Given the description of an element on the screen output the (x, y) to click on. 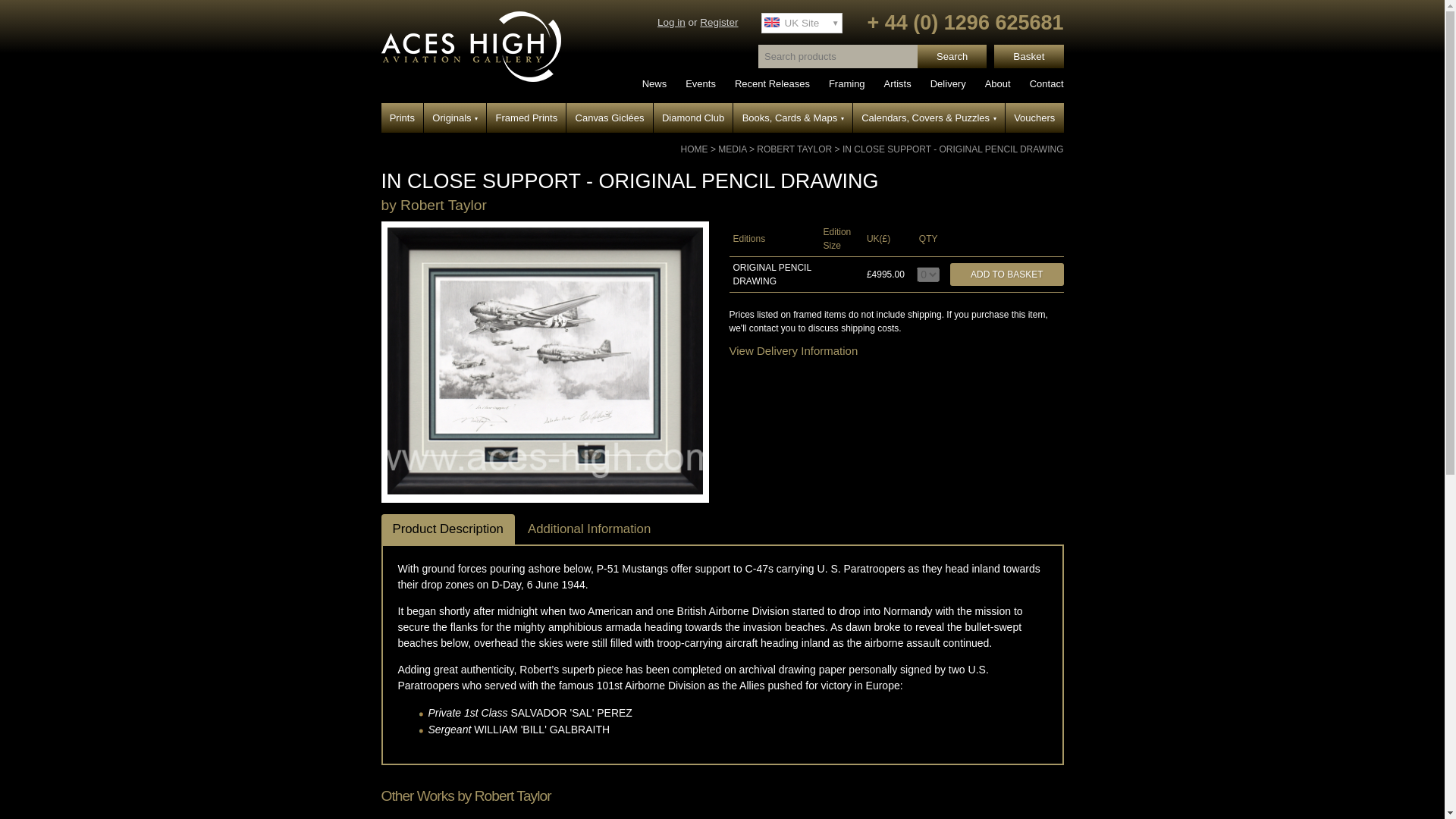
Contact (1046, 83)
Framing (846, 83)
Log in (671, 21)
Events (700, 83)
Search (952, 56)
Contact (1046, 83)
Prints (401, 117)
Recent Releases (772, 83)
News (654, 83)
About (997, 83)
